Given the description of an element on the screen output the (x, y) to click on. 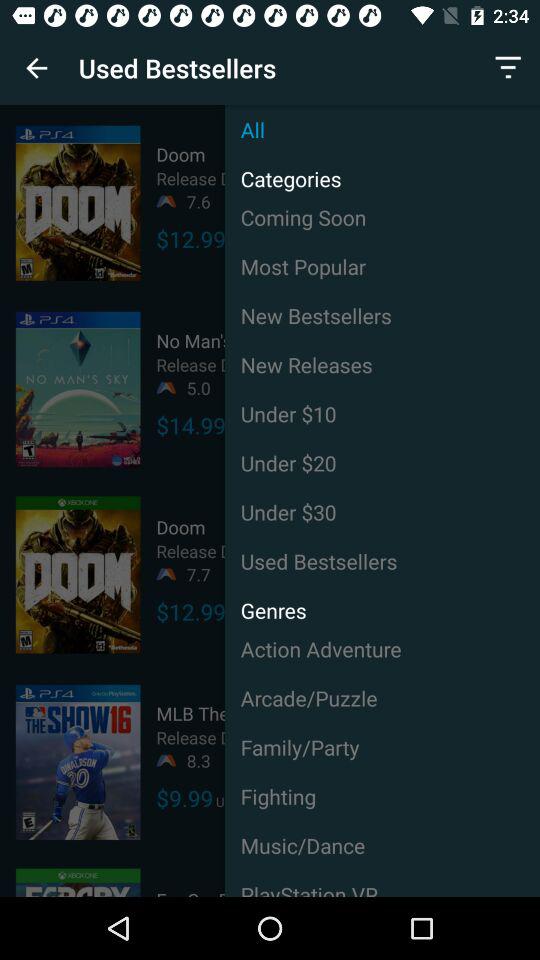
flip to the fighting icon (382, 796)
